Given the description of an element on the screen output the (x, y) to click on. 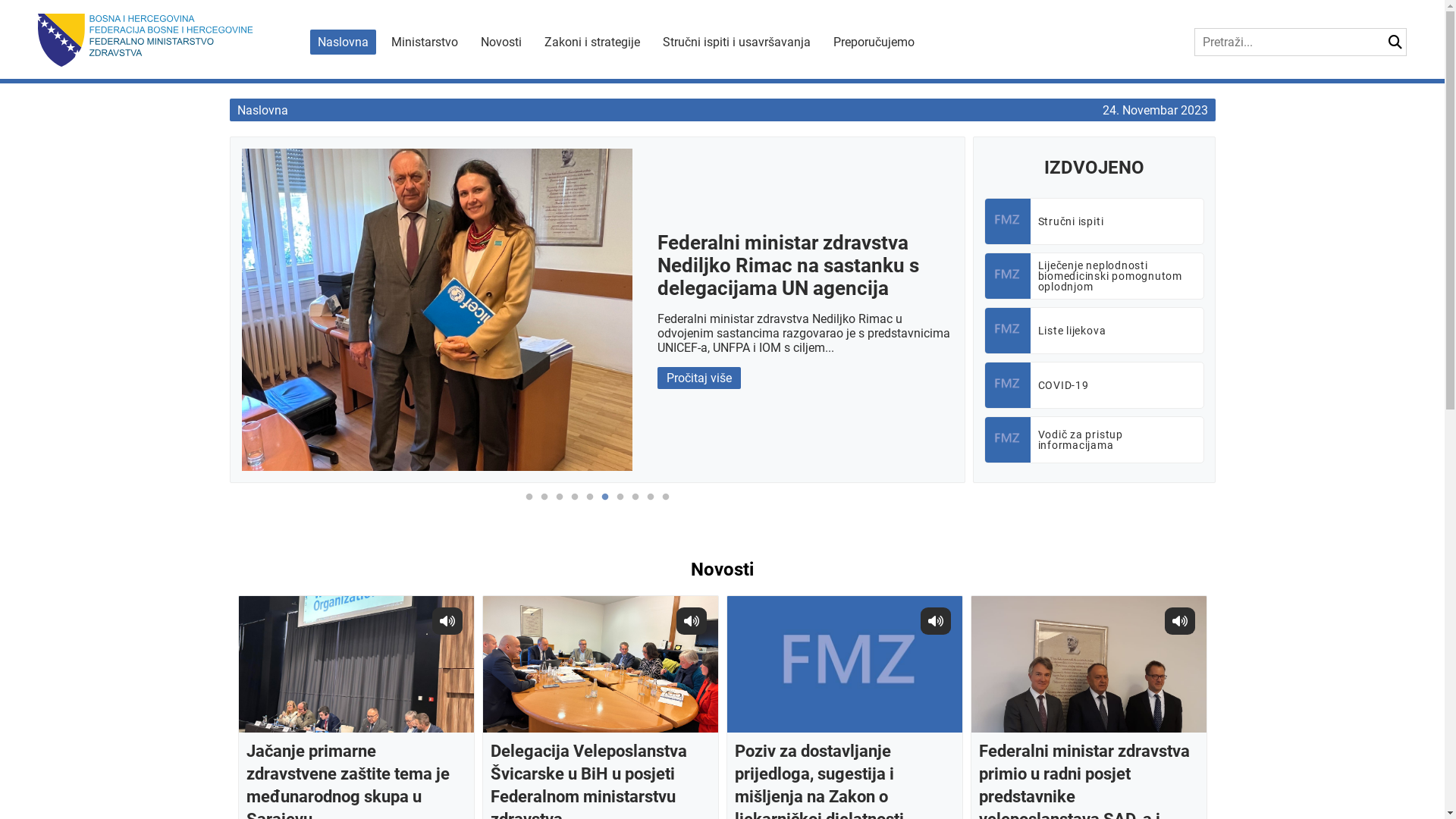
10 Element type: text (665, 504)
7 Element type: text (619, 504)
Novosti Element type: text (500, 41)
Liste lijekova Element type: text (1094, 330)
3 Element type: text (559, 504)
Naslovna Element type: text (261, 110)
COVID-19 Element type: text (1094, 384)
Naslovna Element type: text (342, 41)
2 Element type: text (544, 504)
8 Element type: text (635, 504)
5 Element type: text (589, 504)
Ministarstvo Element type: text (424, 41)
9 Element type: text (650, 504)
1 Element type: text (528, 504)
6 Element type: text (604, 504)
4 Element type: text (574, 504)
Zakoni i strategije Element type: text (592, 41)
